Given the description of an element on the screen output the (x, y) to click on. 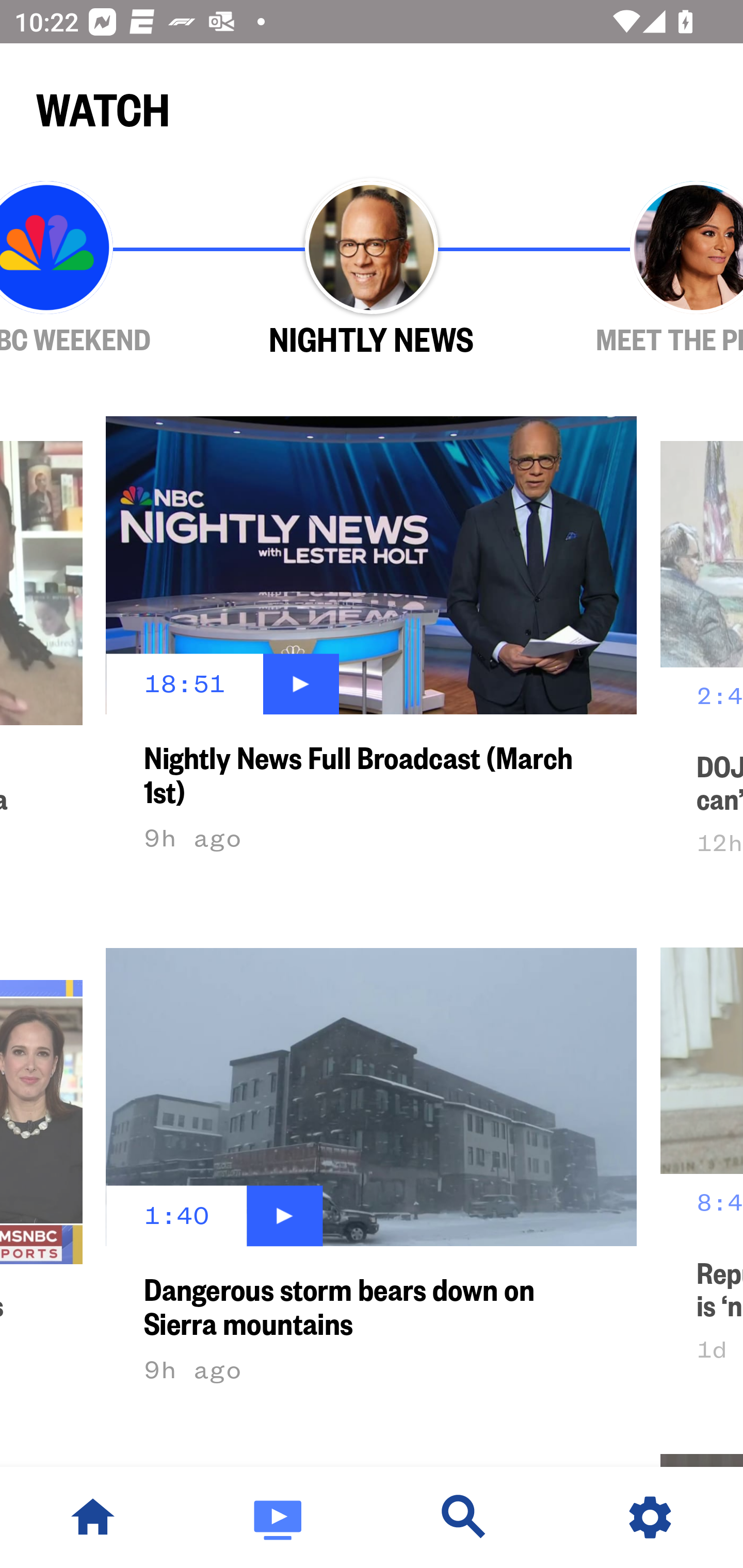
MSNBC WEEKEND (104, 268)
NIGHTLY NEWS (371, 268)
MEET THE PRESS (638, 268)
NBC News Home (92, 1517)
Discover (464, 1517)
Settings (650, 1517)
